Given the description of an element on the screen output the (x, y) to click on. 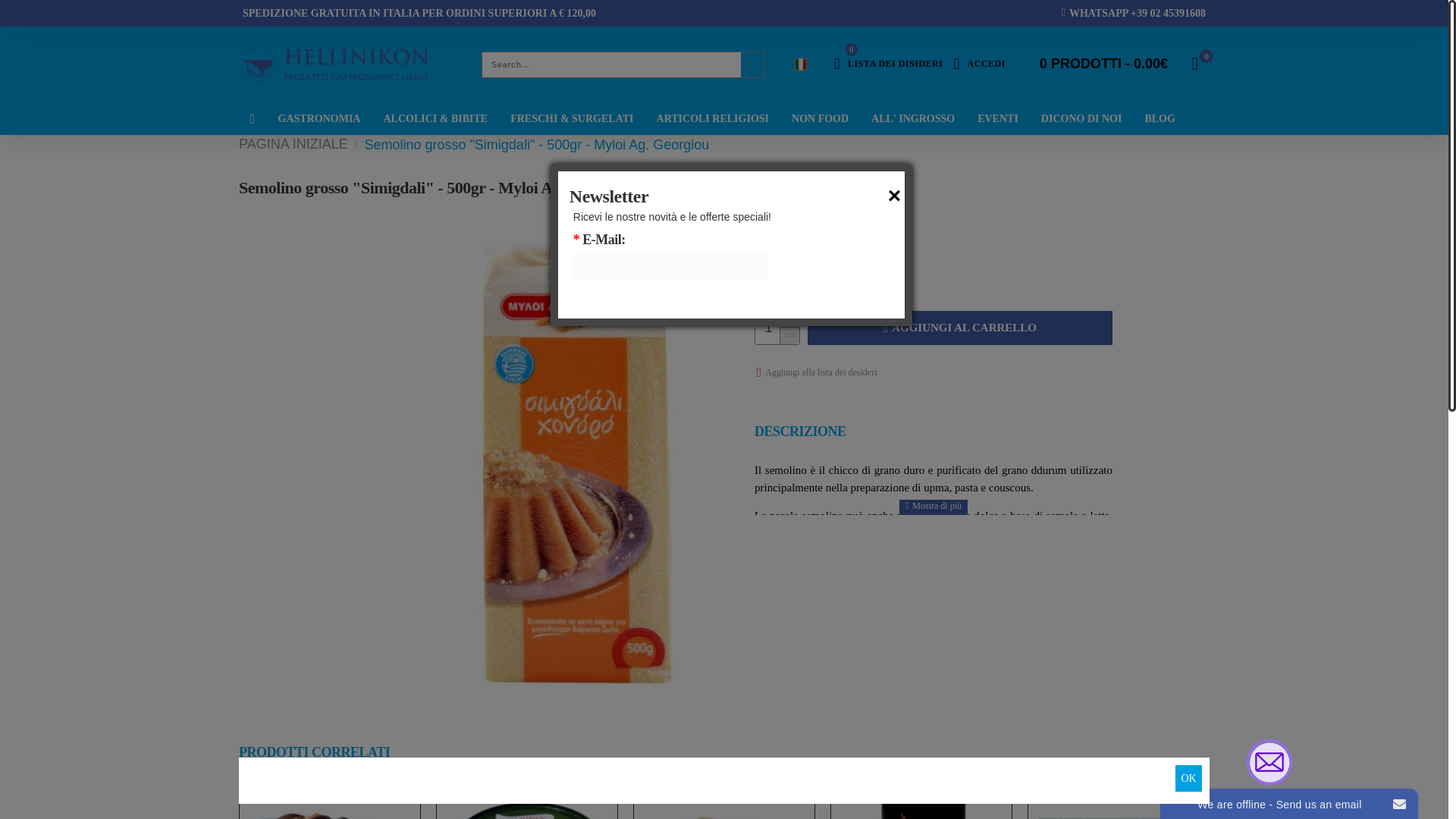
Formaggio greco "kefalotyri" DOP - 250gr - Papathanasiou (723, 803)
ACCEDI (979, 63)
1 (777, 327)
Kokoretsi congelato - 1240gr - Karilakis (329, 803)
GASTRONOMIA (888, 63)
Hellinikon (319, 118)
ITALIANO (333, 64)
